Given the description of an element on the screen output the (x, y) to click on. 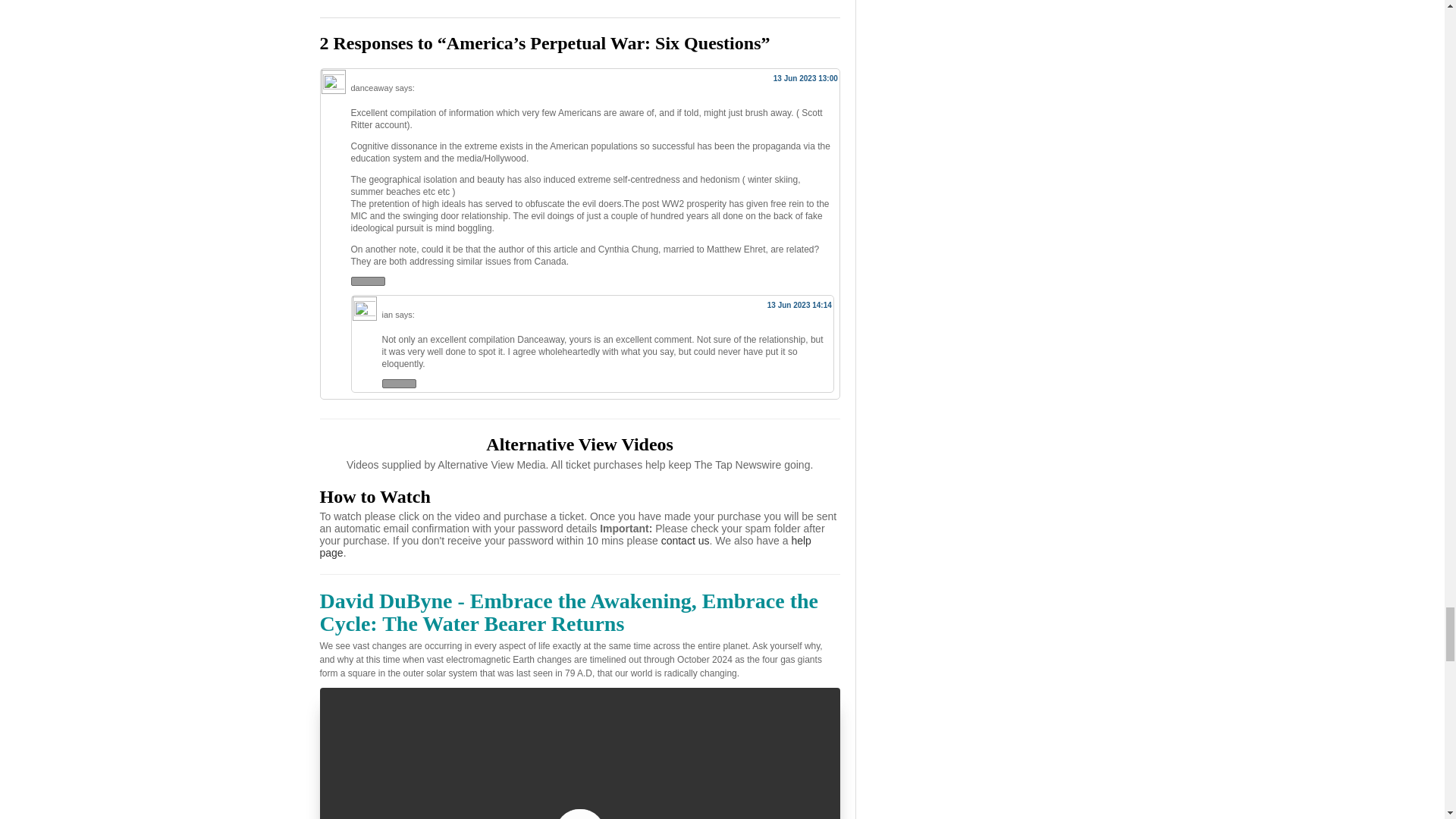
13 Jun 2023 14:14 (799, 305)
13 Jun 2023 13:00 (805, 78)
help page (565, 546)
contact us (685, 540)
